Given the description of an element on the screen output the (x, y) to click on. 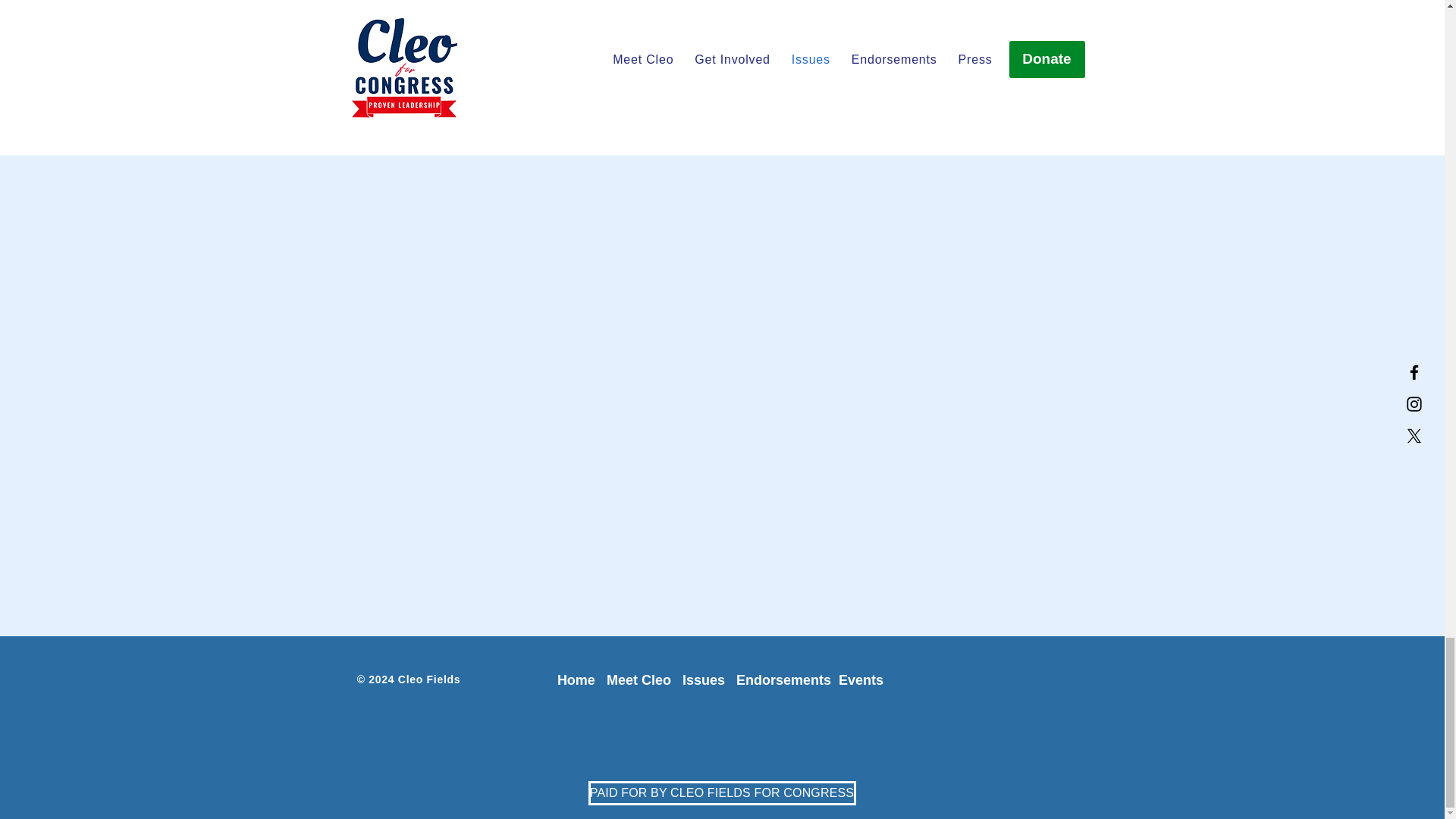
Issues  (705, 679)
Events (860, 679)
Meet Cleo (639, 679)
Endorsements (783, 679)
Home (576, 679)
